Given the description of an element on the screen output the (x, y) to click on. 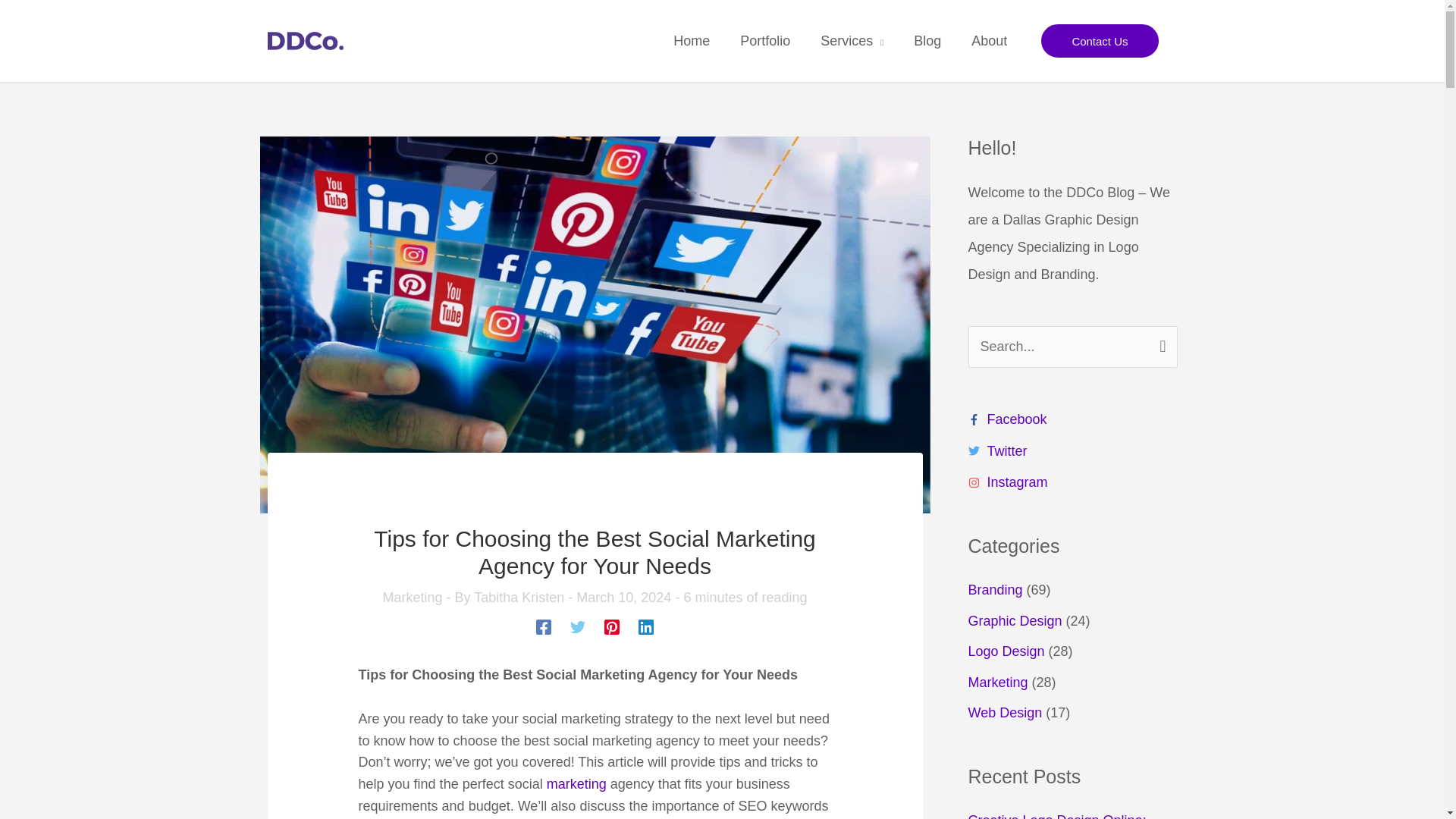
Contact Us (1098, 40)
Services (851, 40)
Marketing (411, 597)
Tabitha Kristen (520, 597)
Blog (927, 40)
Home (691, 40)
marketing (577, 783)
View all posts by Tabitha Kristen (520, 597)
About (989, 40)
Search (1159, 342)
